Given the description of an element on the screen output the (x, y) to click on. 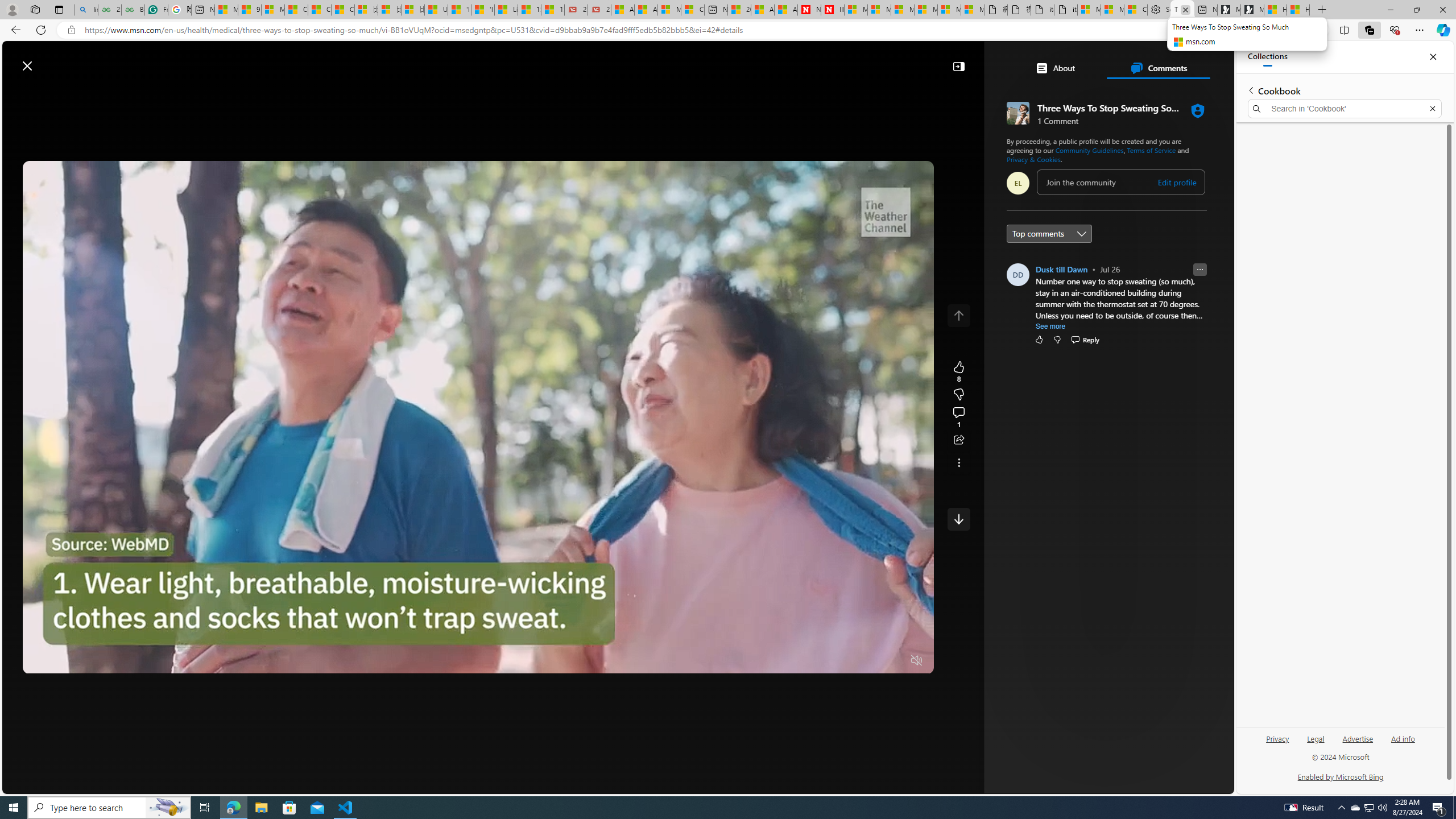
Sort comments by (1049, 233)
Captions (871, 660)
Pause (39, 660)
